Given the description of an element on the screen output the (x, y) to click on. 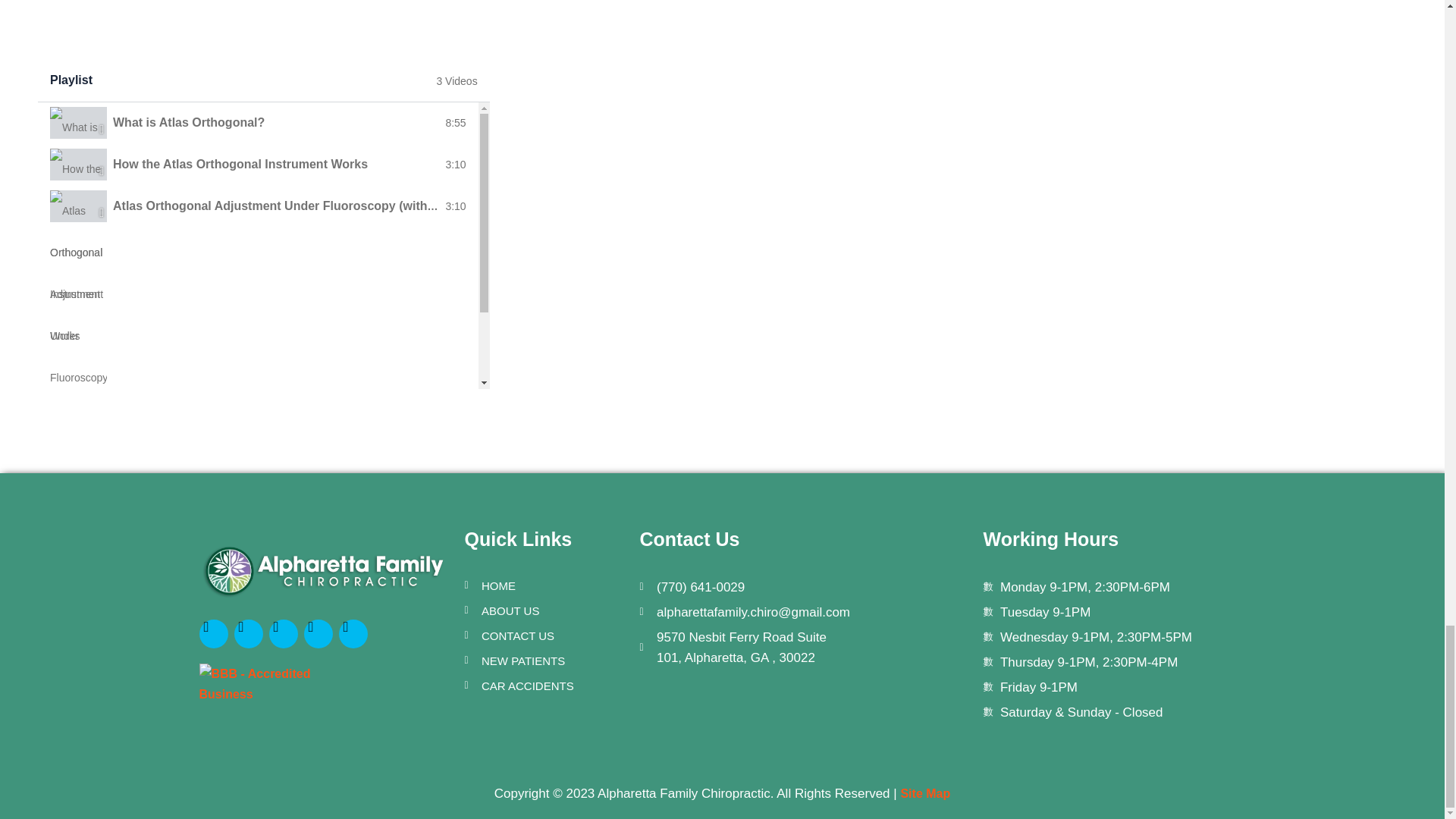
ABOUT US (544, 610)
What is Atlas Orthogonal? (188, 122)
HOME (544, 585)
CONTACT US (544, 635)
How the Atlas Orthogonal Instrument Works (240, 164)
